Given the description of an element on the screen output the (x, y) to click on. 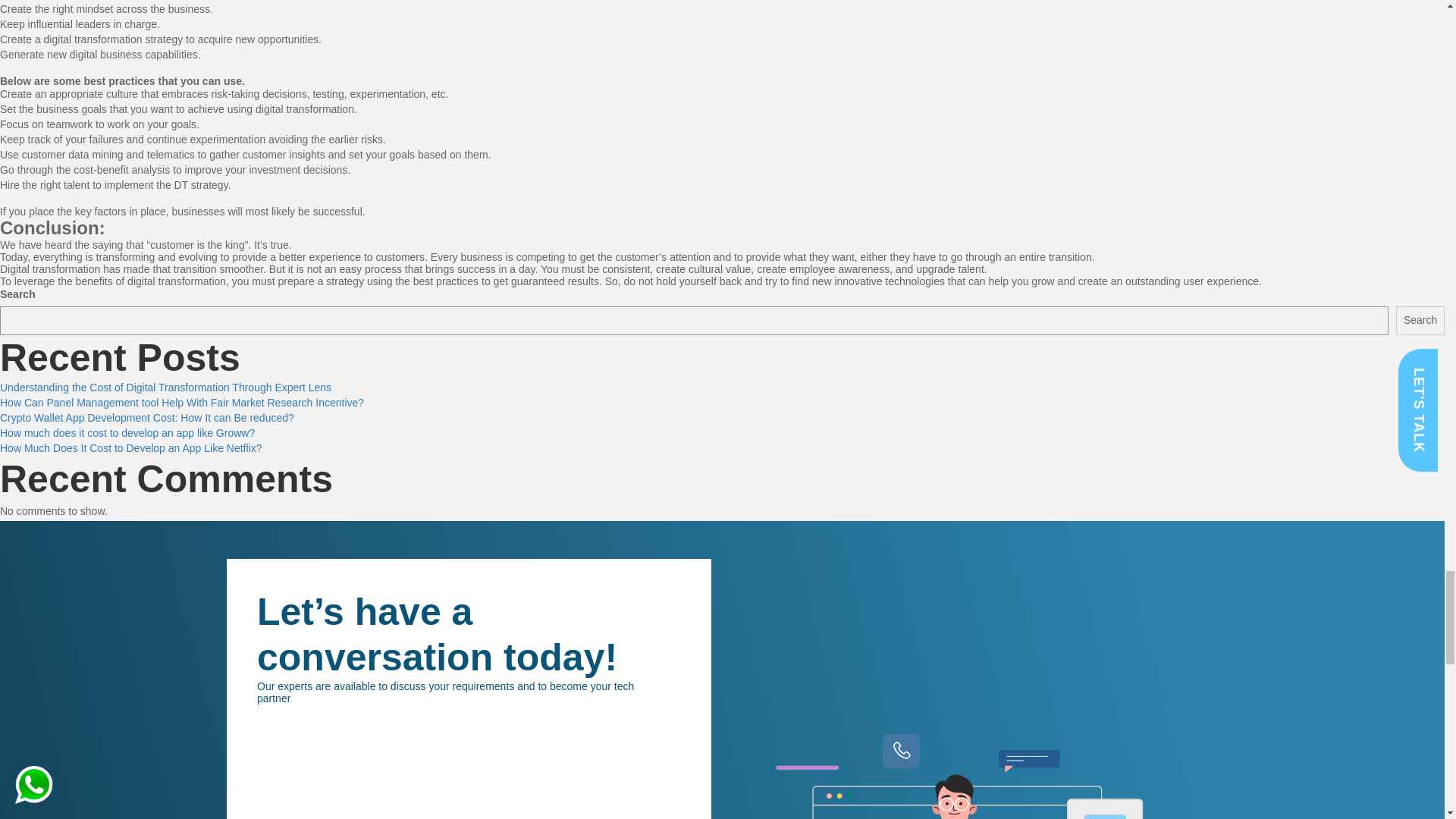
Conclusion: (52, 227)
footer-form (467, 773)
